Given the description of an element on the screen output the (x, y) to click on. 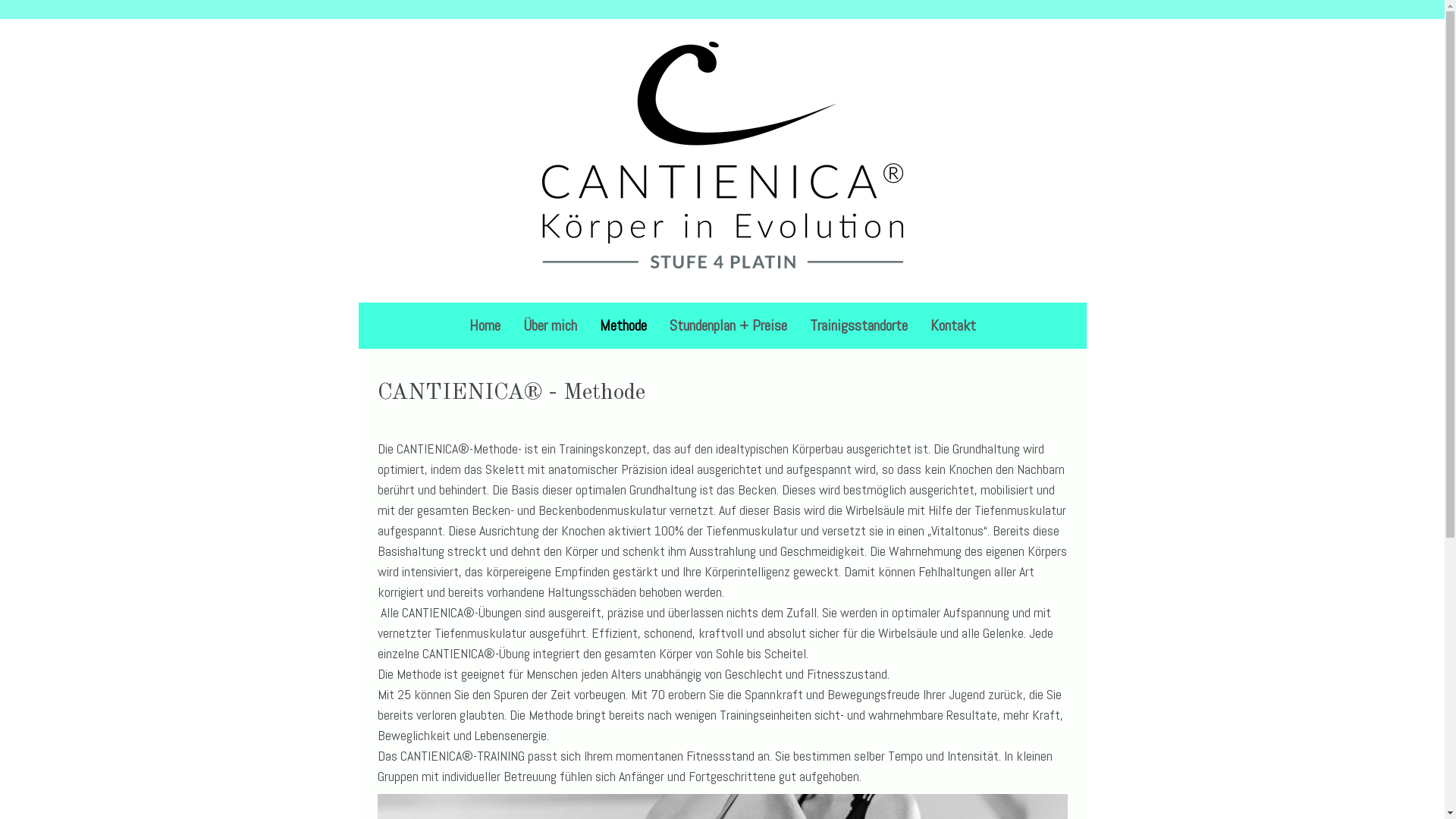
Stundenplan + Preise Element type: text (728, 325)
Trainigsstandorte Element type: text (857, 325)
Home Element type: text (484, 325)
Methode Element type: text (623, 325)
Kontakt Element type: text (953, 325)
